Given the description of an element on the screen output the (x, y) to click on. 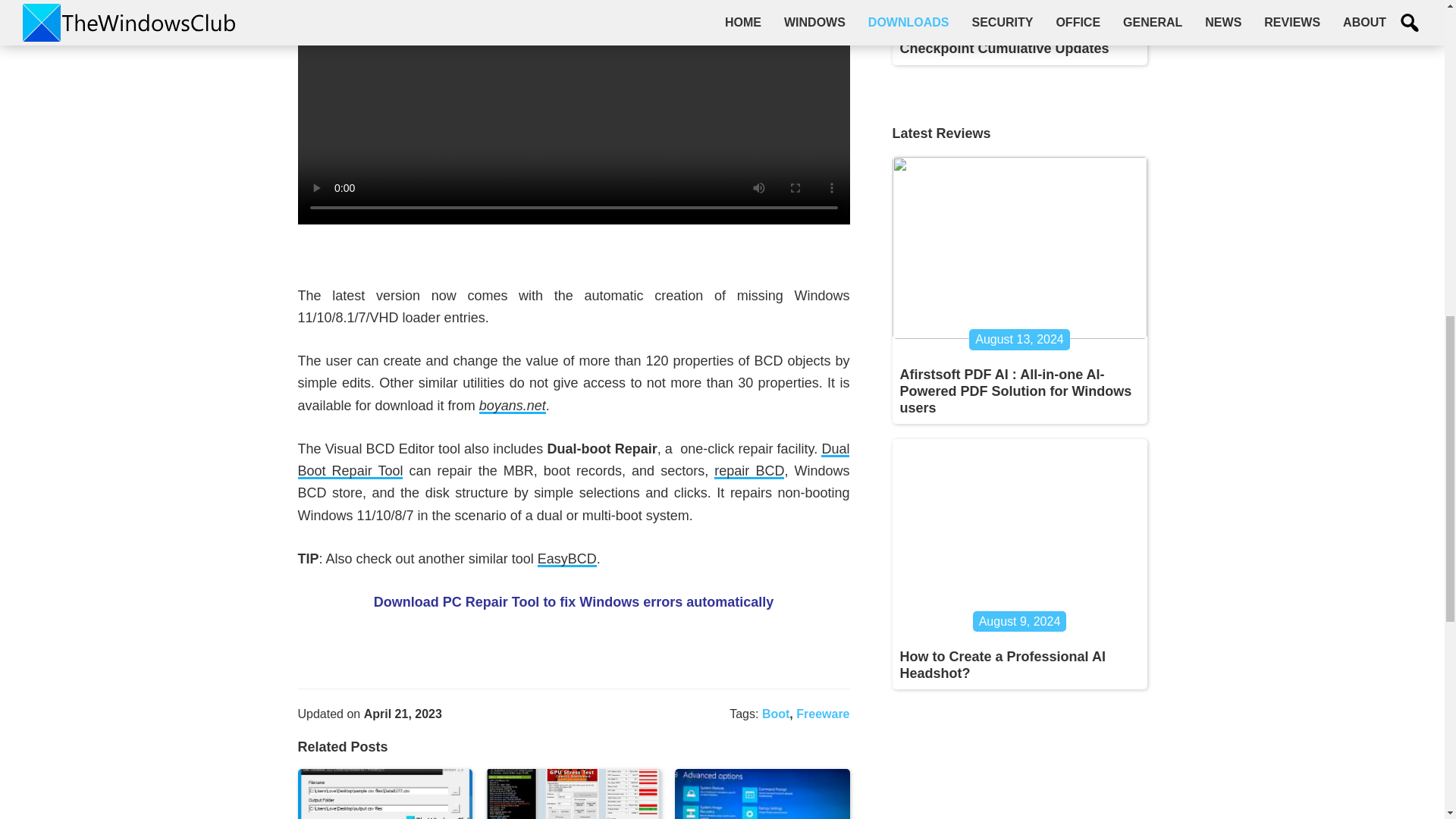
Freeware (822, 713)
Download PC Repair Tool to fix Windows errors automatically (574, 601)
Boot (775, 713)
Dual Boot Repair Tool (572, 460)
boyans.net (512, 406)
EasyBCD (566, 559)
repair BCD (749, 471)
EasyBCD (566, 559)
